Given the description of an element on the screen output the (x, y) to click on. 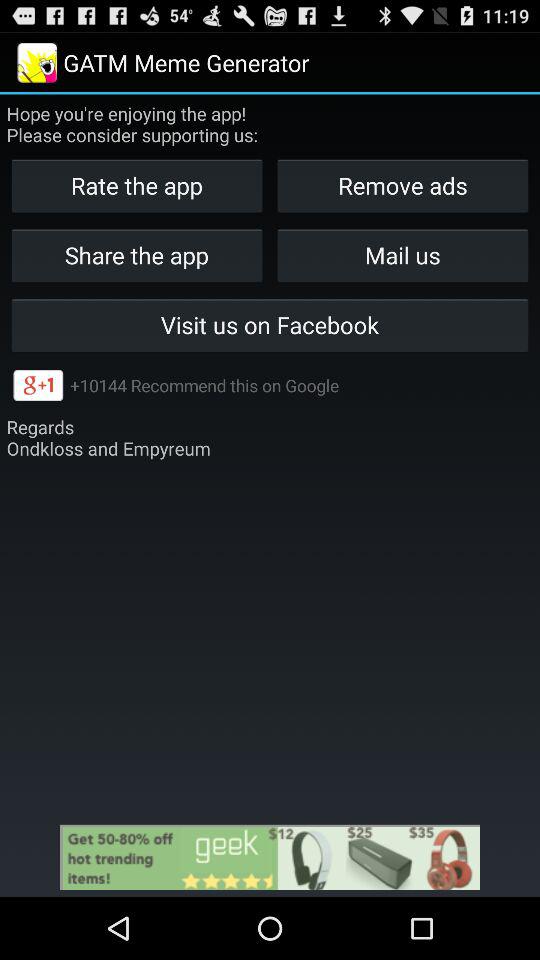
jump until the remove ads (402, 185)
